Given the description of an element on the screen output the (x, y) to click on. 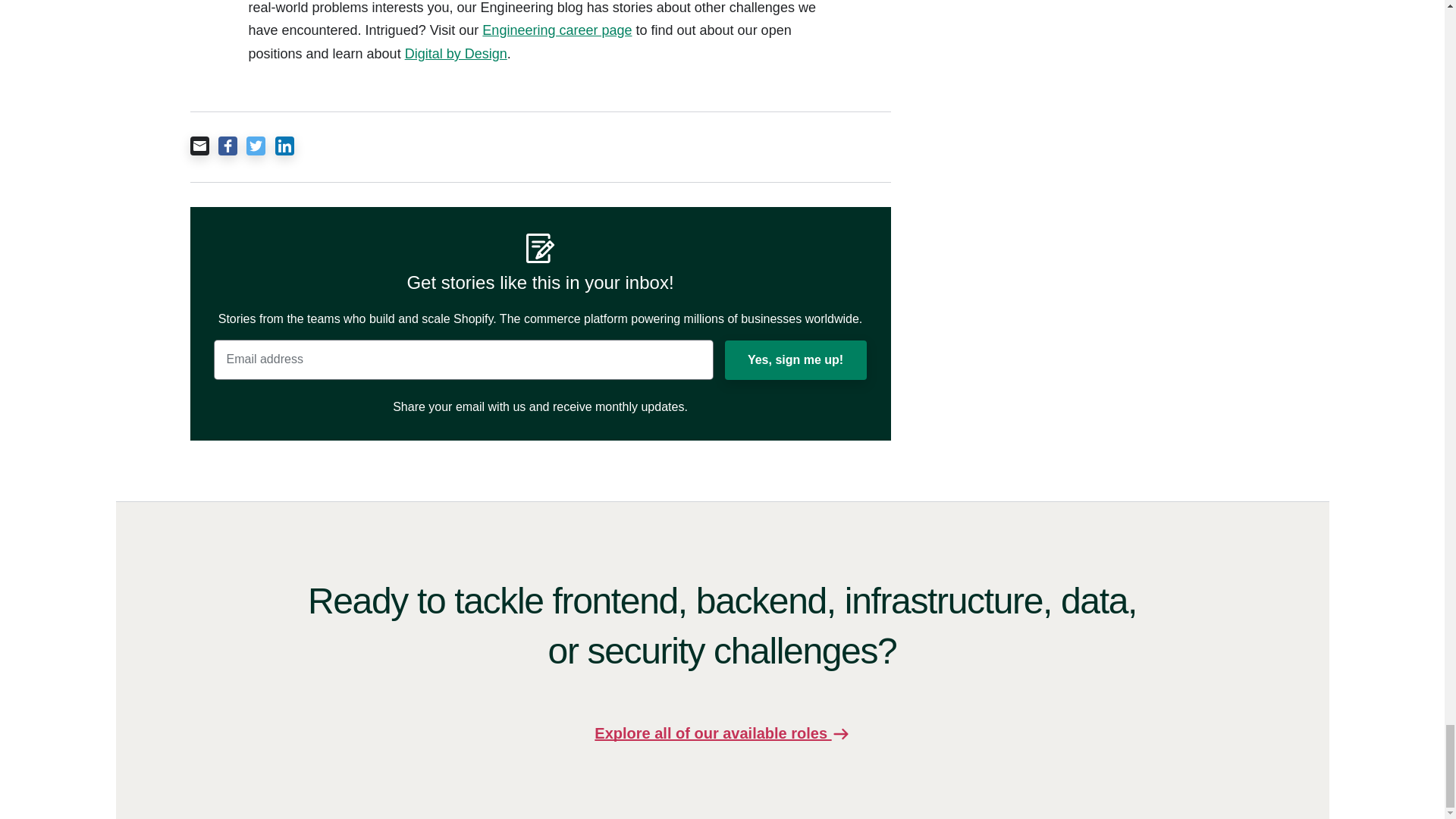
Engineering career page (556, 29)
